Given the description of an element on the screen output the (x, y) to click on. 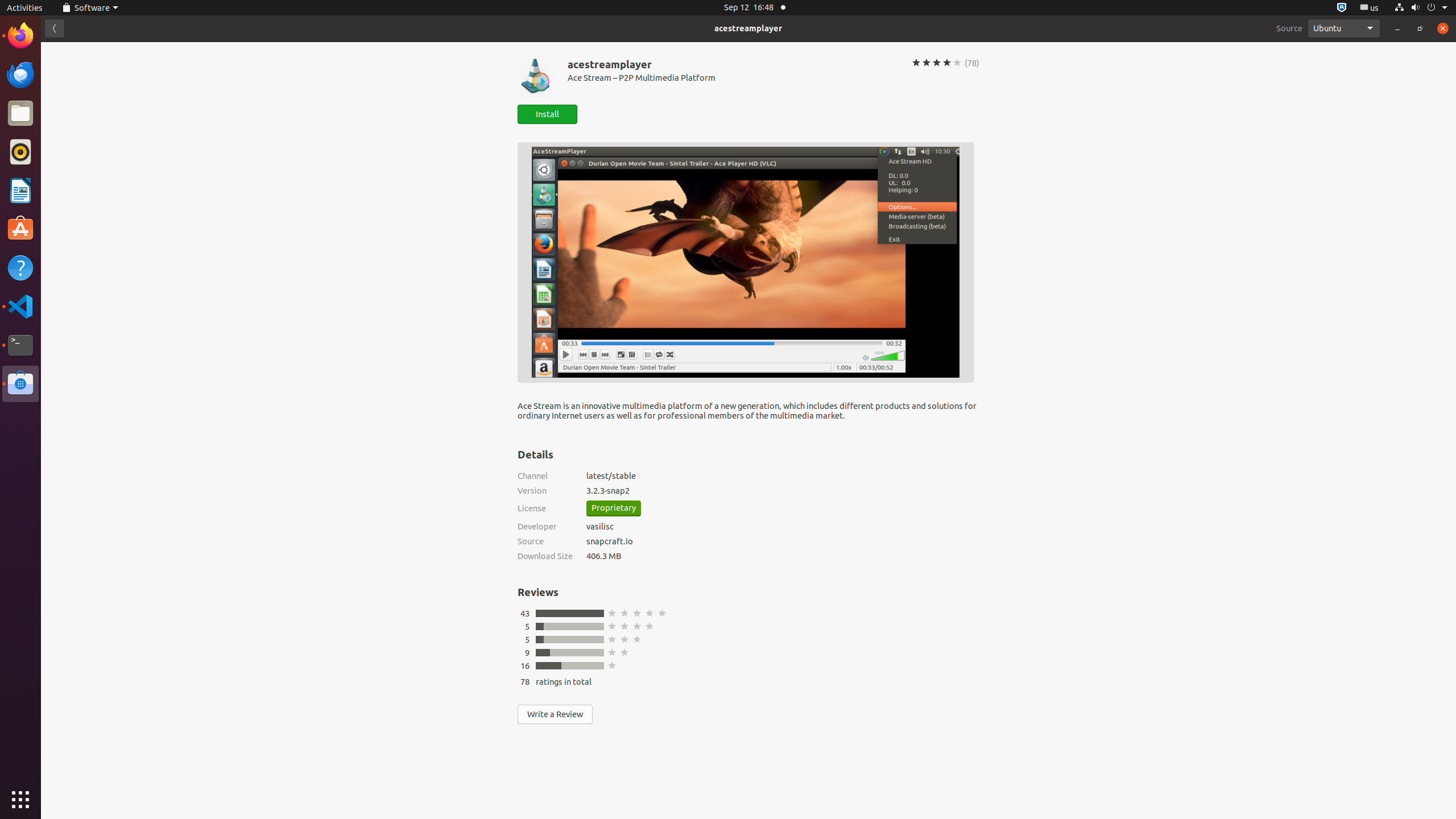
Proprietary Element type: push-button (613, 508)
Firefox Web Browser Element type: push-button (20, 35)
li.txt Element type: label (146, 50)
luyi1 Element type: label (75, 50)
